Given the description of an element on the screen output the (x, y) to click on. 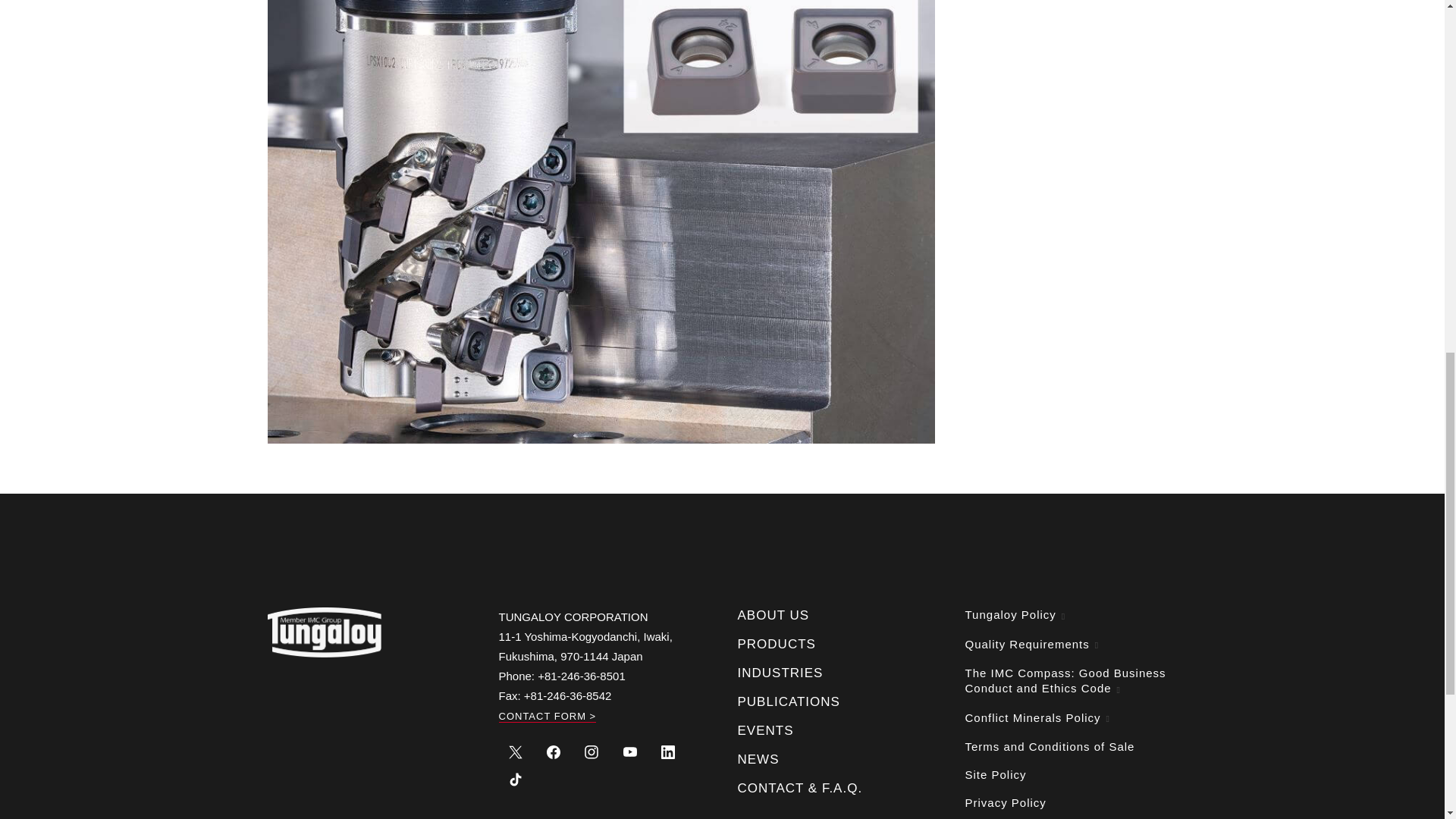
Facebook (553, 750)
X (515, 750)
Instagram (591, 750)
TikTok (515, 777)
LinkedIn (667, 750)
YouTube (629, 750)
